Given the description of an element on the screen output the (x, y) to click on. 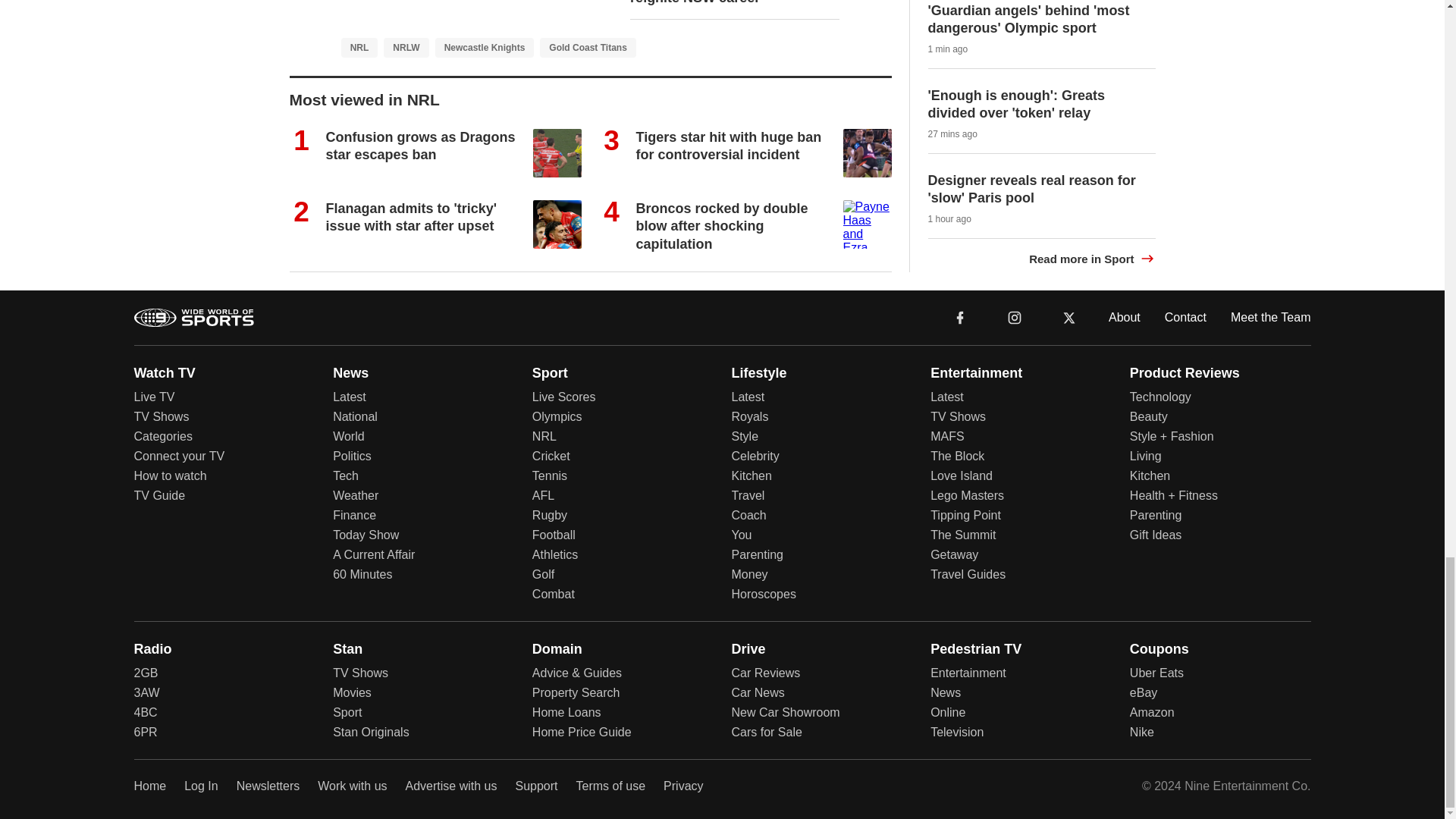
Confusion grows as Dragons star escapes ban (420, 145)
Gold Coast Titans (587, 47)
x (1069, 317)
Flanagan admits to 'tricky' issue with star after upset (411, 216)
facebook (960, 317)
NRLW (406, 47)
NRL (359, 47)
x (1069, 316)
Bizarre surgery that failed to reignite NSW career (722, 2)
instagram (1013, 316)
instagram (1014, 317)
facebook (959, 316)
Newcastle Knights (484, 47)
